Given the description of an element on the screen output the (x, y) to click on. 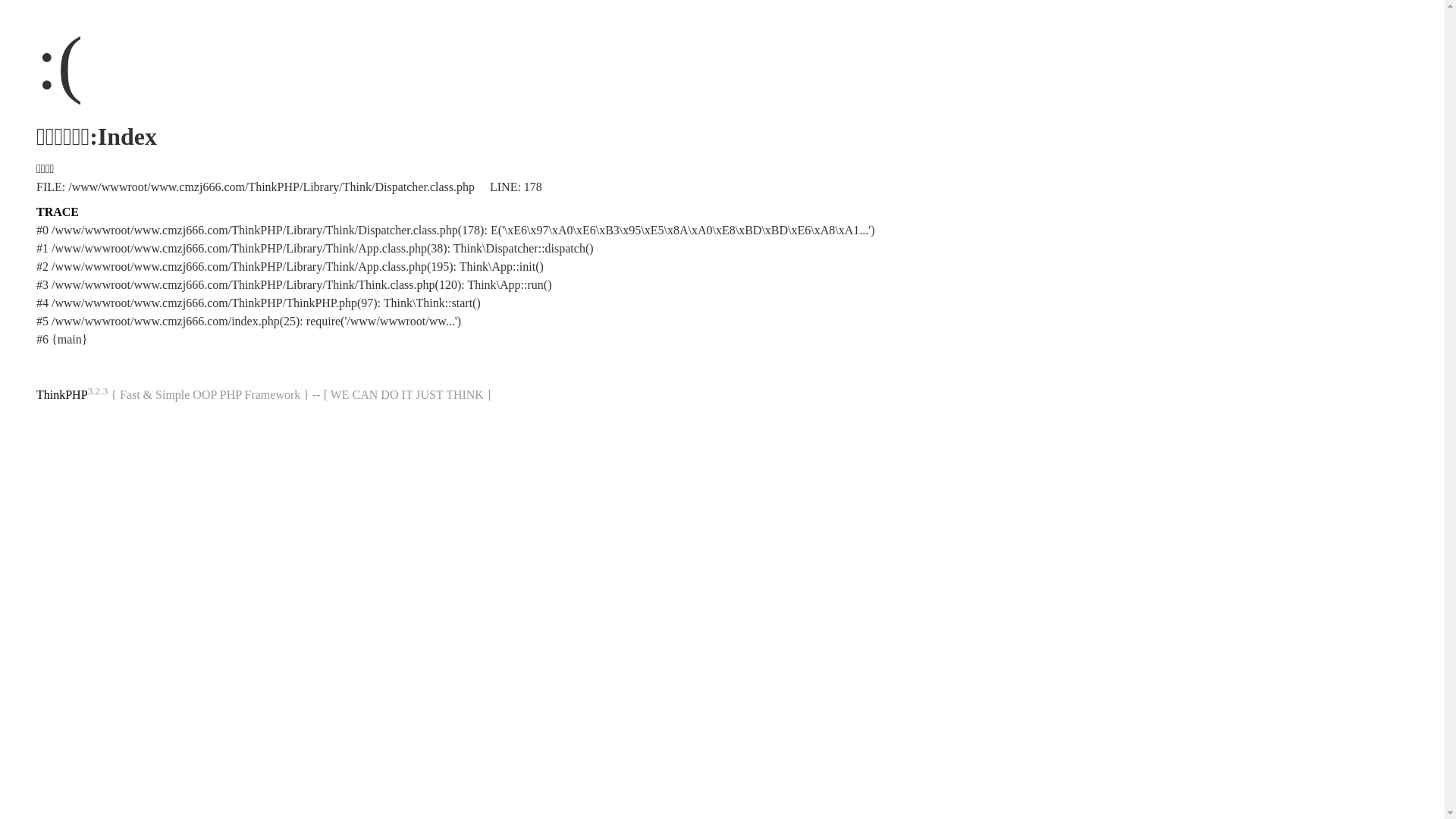
ThinkPHP Element type: text (61, 394)
